Given the description of an element on the screen output the (x, y) to click on. 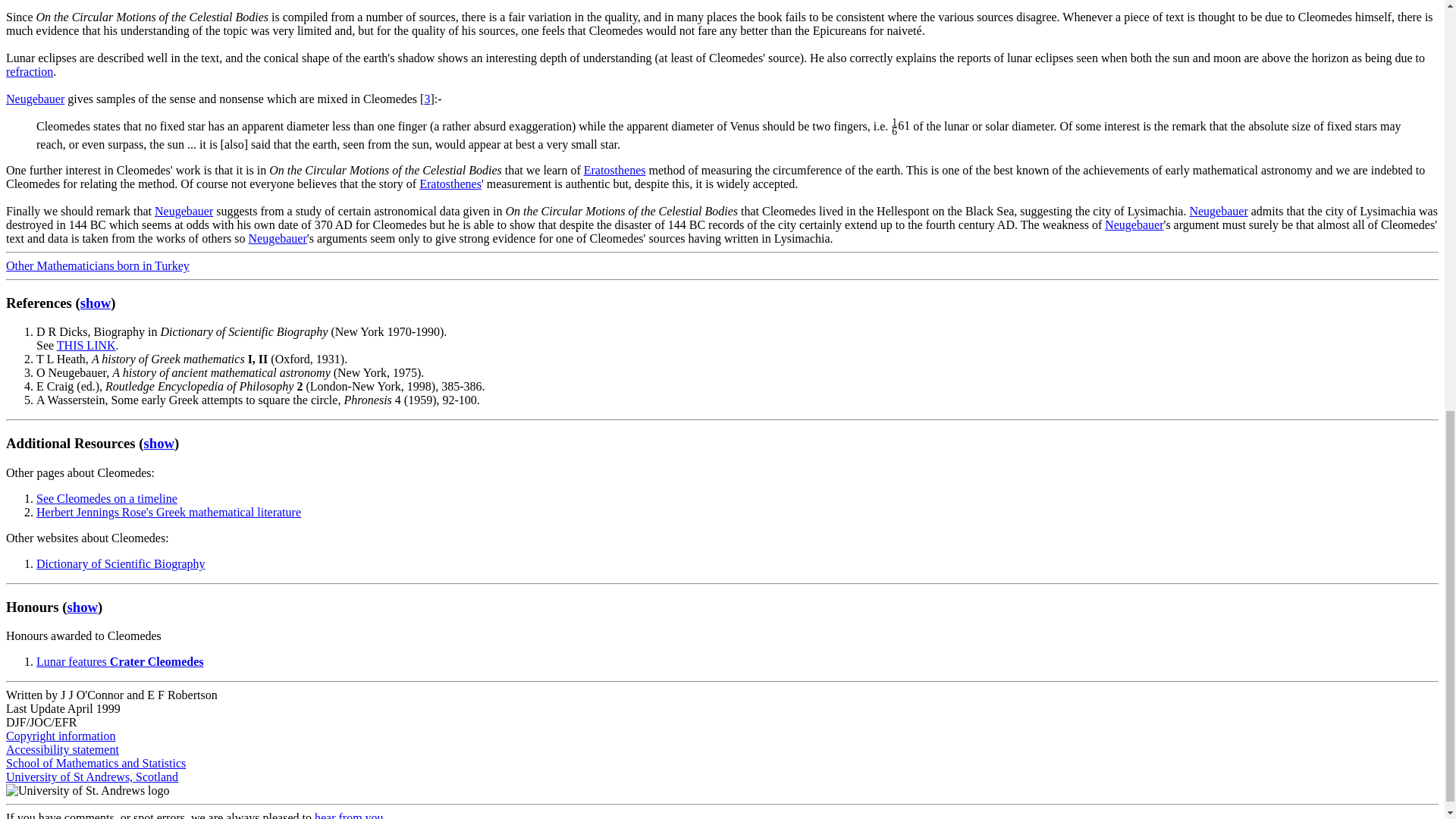
3 (426, 98)
Neugebauer (34, 98)
refraction (28, 71)
